Given the description of an element on the screen output the (x, y) to click on. 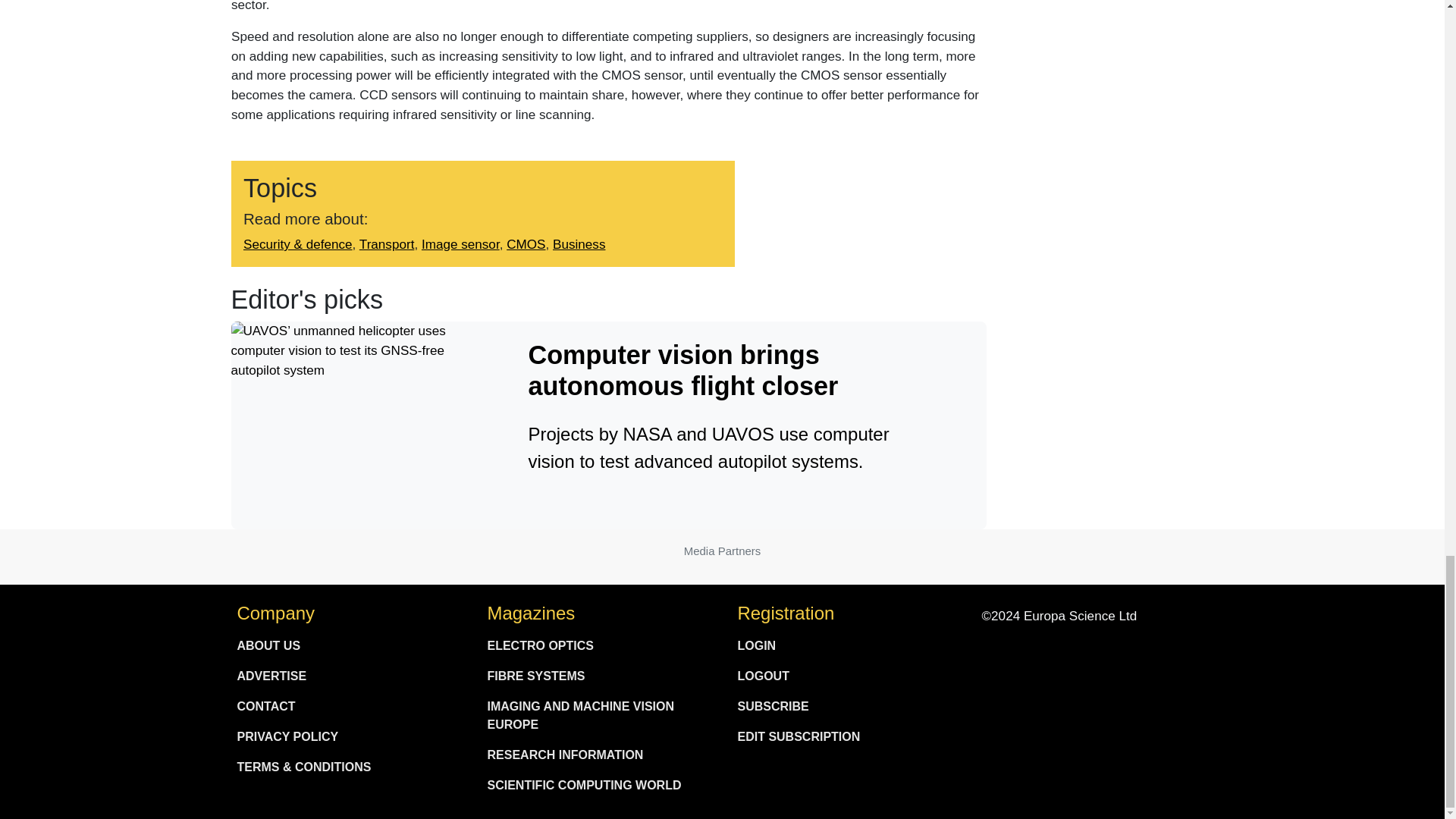
Image sensor (459, 244)
Business (579, 244)
CMOS (525, 244)
Transport (385, 244)
